Given the description of an element on the screen output the (x, y) to click on. 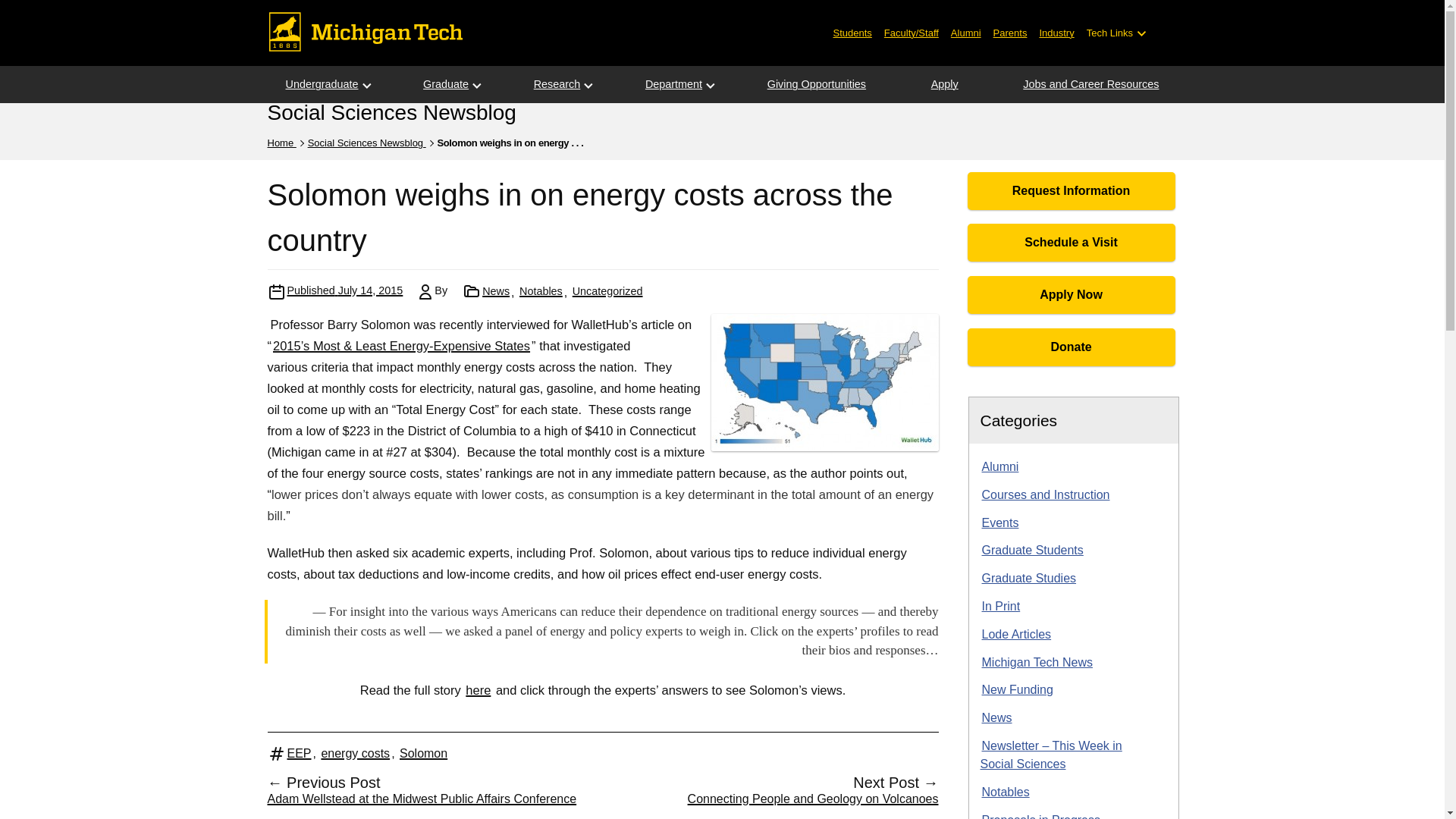
Industry (1056, 32)
Alumni (965, 32)
Open Search (1166, 33)
Undergraduate (320, 84)
Parents (1010, 32)
Graduate (445, 84)
Students (852, 32)
